Given the description of an element on the screen output the (x, y) to click on. 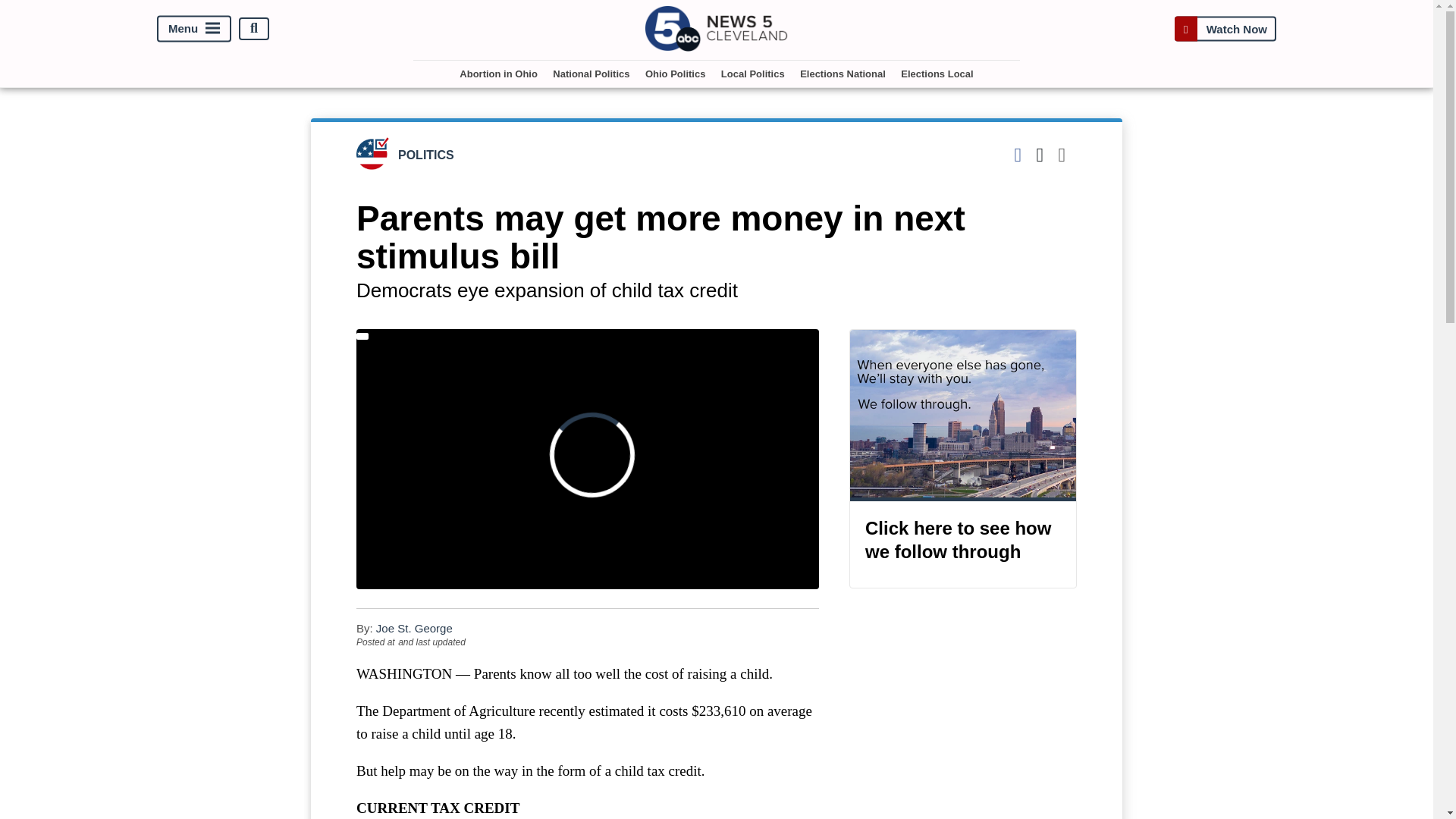
Watch Now (1224, 28)
Menu (194, 28)
